Given the description of an element on the screen output the (x, y) to click on. 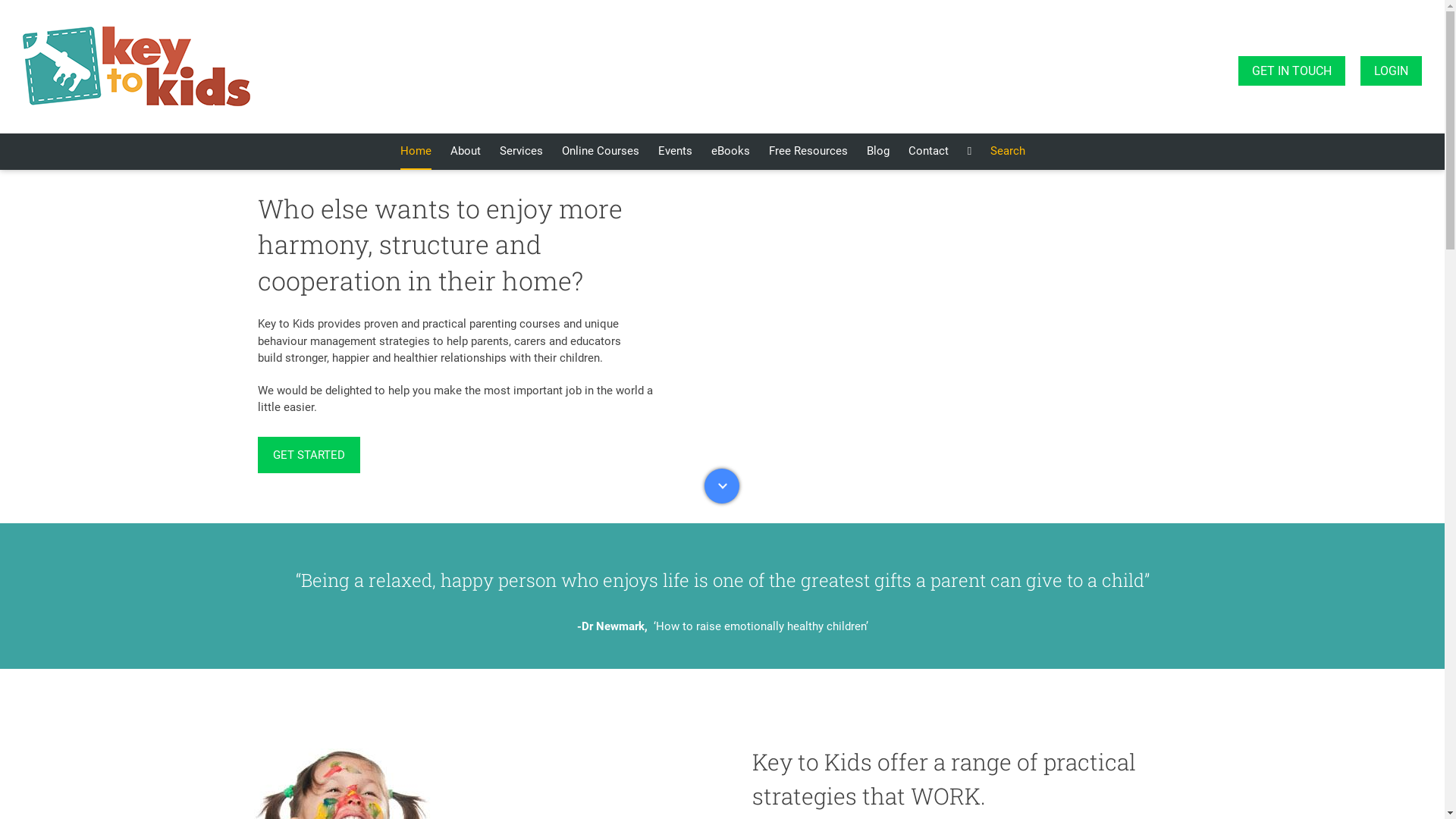
Search Element type: hover (1007, 151)
Home Element type: text (415, 151)
LOGIN Element type: text (1390, 70)
GET STARTED Element type: text (308, 454)
About Element type: text (465, 151)
GET IN TOUCH Element type: text (1291, 70)
Blog Element type: text (877, 151)
eBooks Element type: text (730, 151)
Free Resources Element type: text (807, 151)
Contact Element type: text (928, 151)
Online Courses Element type: text (600, 151)
Services Element type: text (520, 151)
Down Element type: text (721, 485)
Events Element type: text (675, 151)
